Given the description of an element on the screen output the (x, y) to click on. 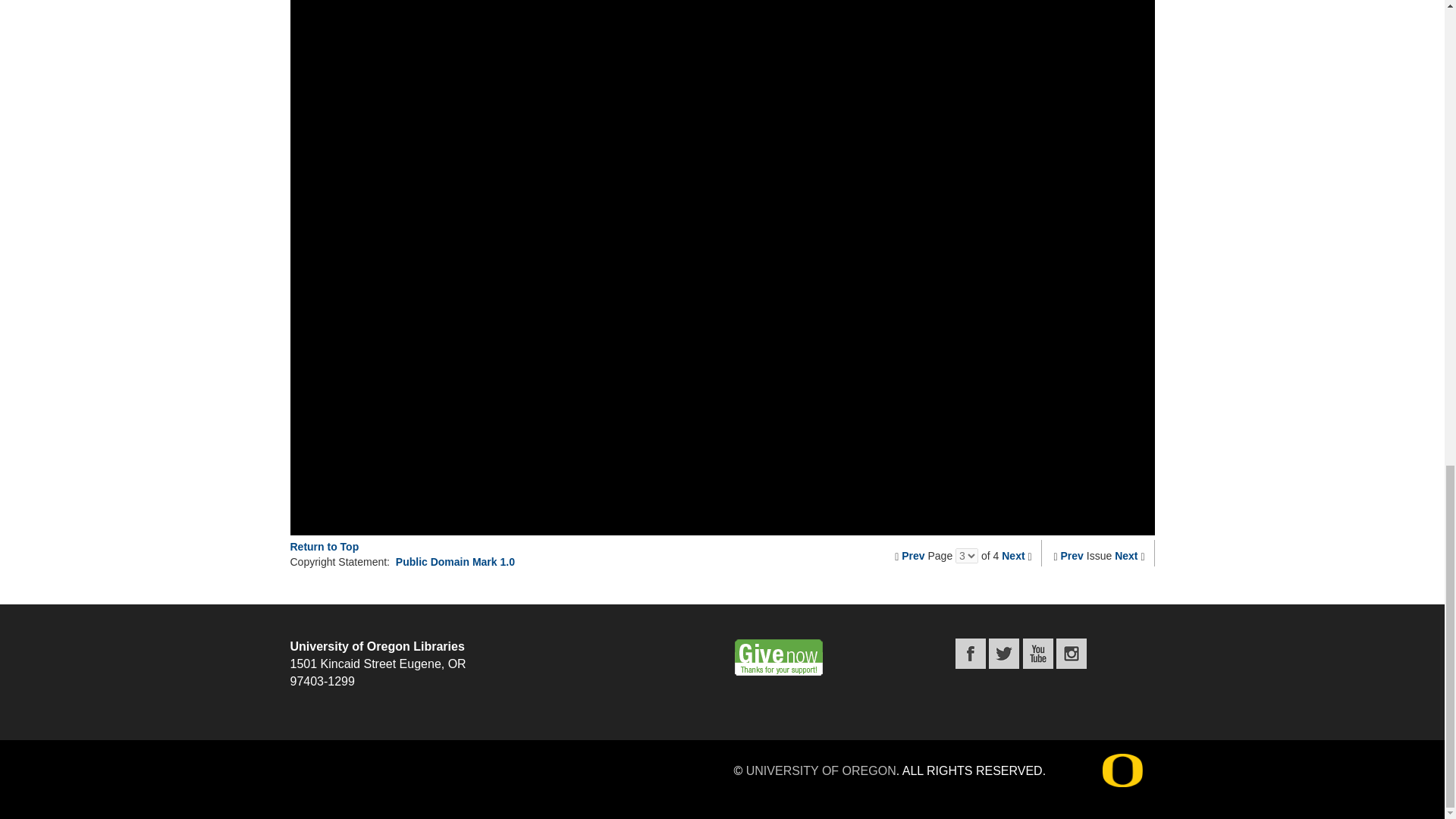
Prev (1072, 555)
Next (1126, 555)
Return to Top (323, 546)
Public Domain Mark 1.0 (455, 562)
Next (1013, 555)
Prev (912, 555)
